Given the description of an element on the screen output the (x, y) to click on. 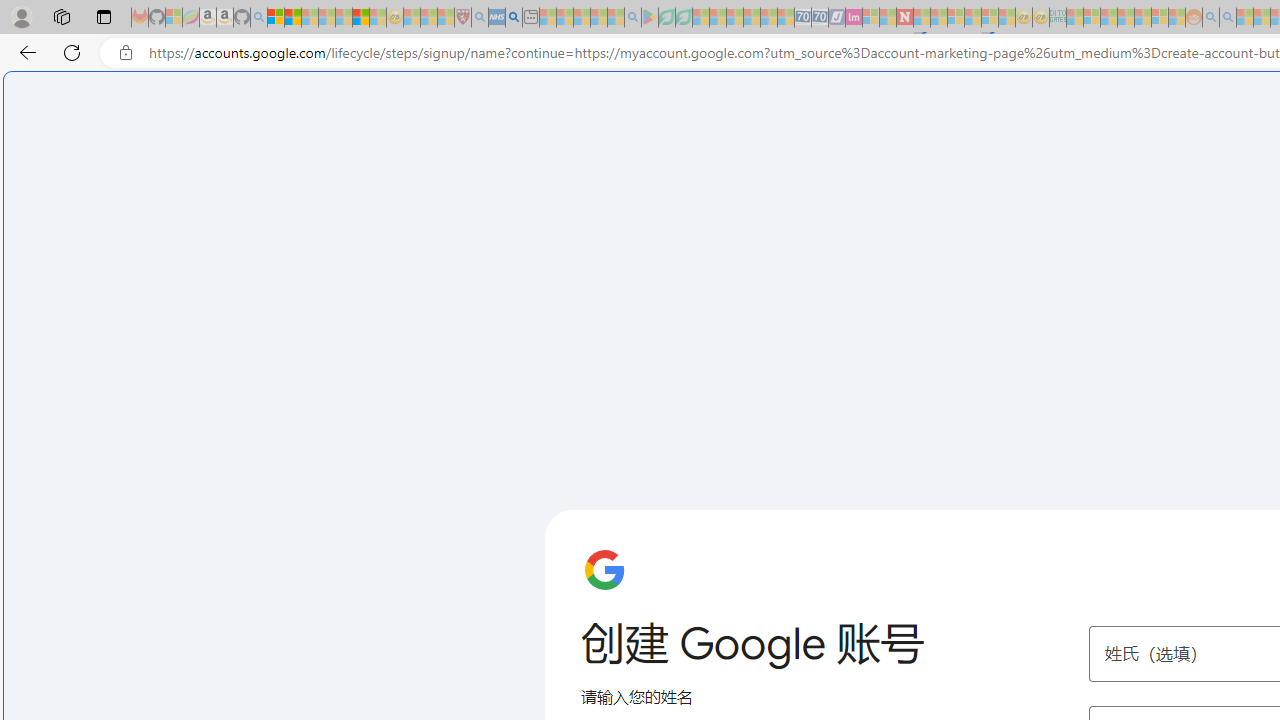
utah sues federal government - Search (513, 17)
Bluey: Let's Play! - Apps on Google Play - Sleeping (649, 17)
Expert Portfolios - Sleeping (1125, 17)
